Given the description of an element on the screen output the (x, y) to click on. 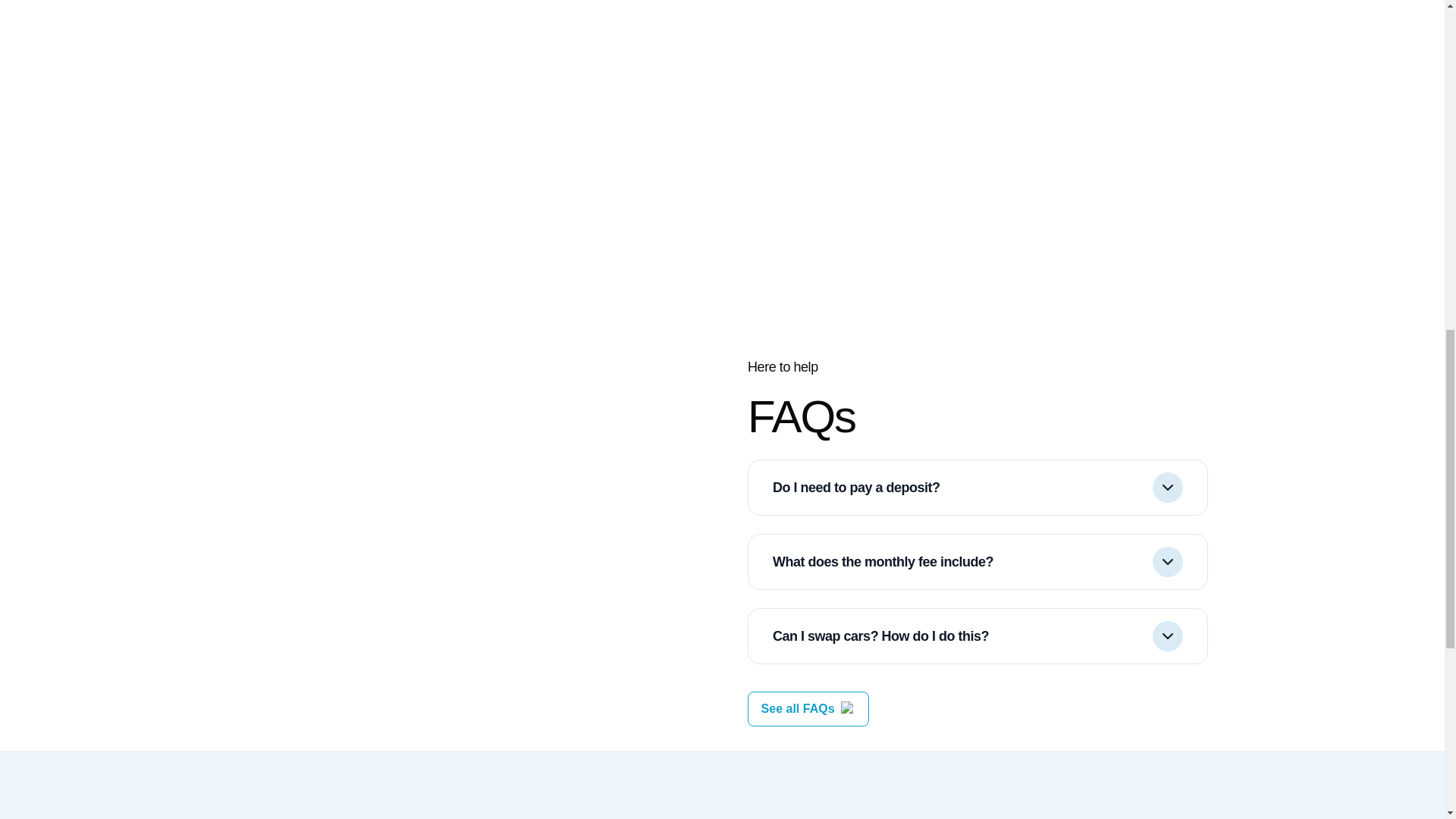
What does the monthly fee include? (977, 561)
Do I need to pay a deposit? (977, 487)
Can I swap cars? How do I do this? (977, 636)
See all FAQs (797, 709)
